Given the description of an element on the screen output the (x, y) to click on. 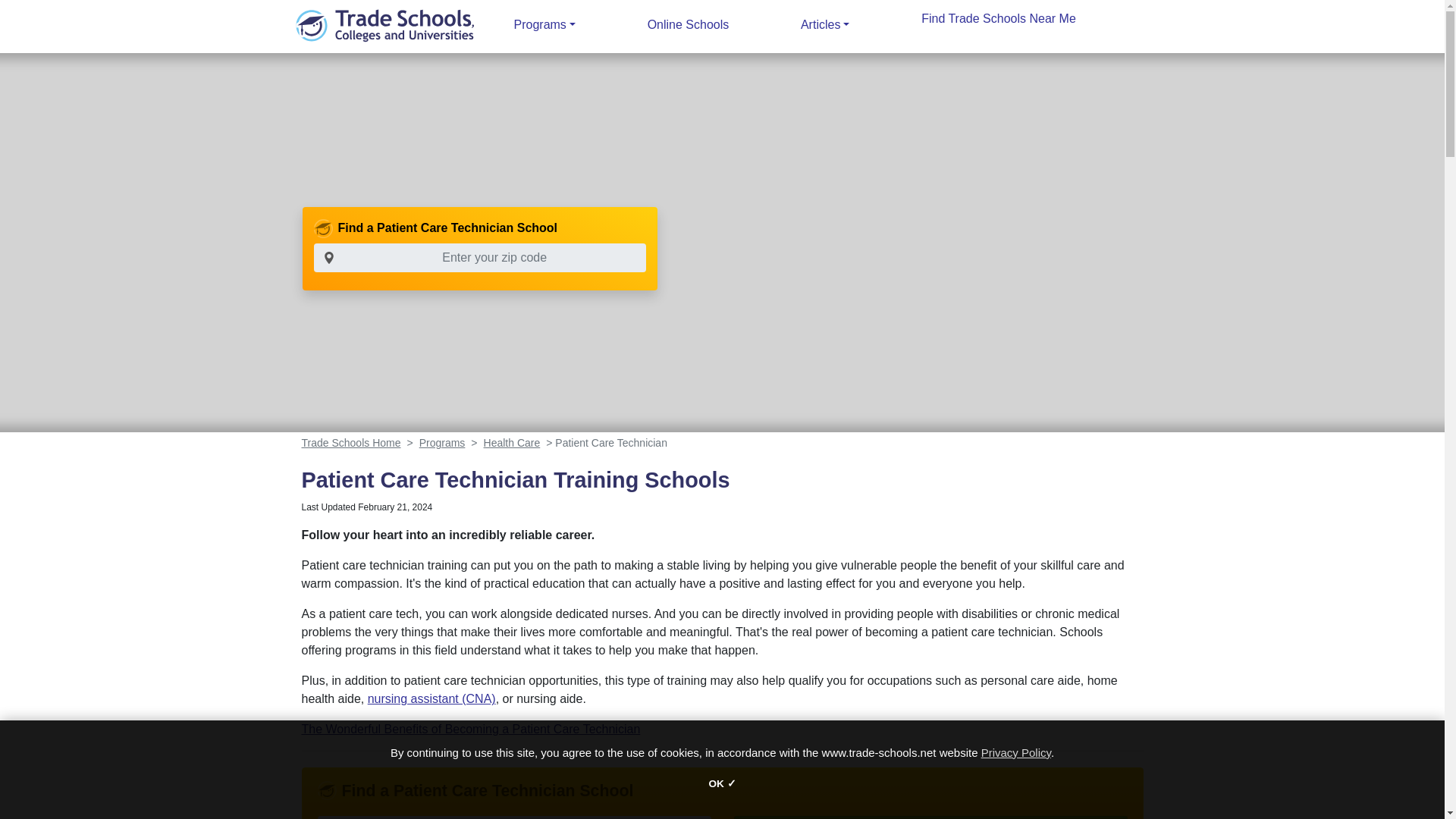
Programs (544, 24)
Trade-schools.net home page (384, 24)
February 21, 2024 (395, 507)
